Given the description of an element on the screen output the (x, y) to click on. 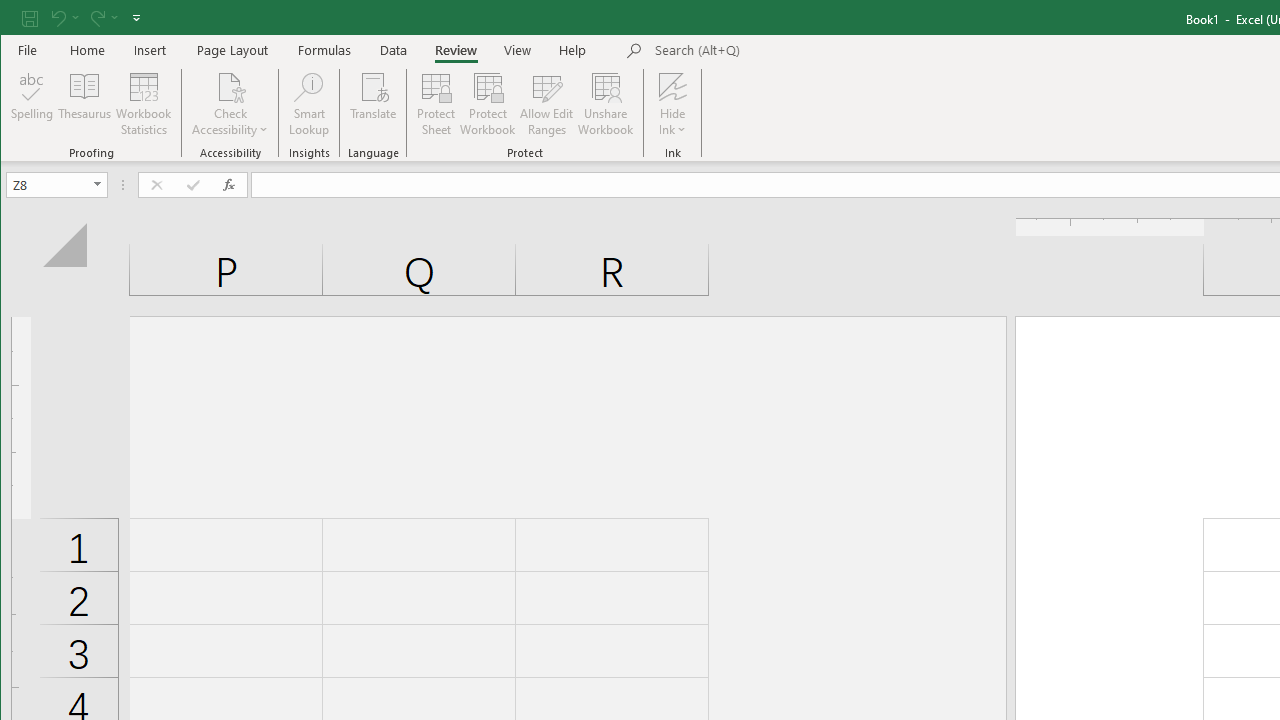
Check Accessibility (230, 104)
Allow Edit Ranges (547, 104)
Unshare Workbook (606, 104)
Spelling... (32, 104)
Smart Lookup (308, 104)
Protect Workbook... (488, 104)
Hide Ink (672, 104)
Thesaurus... (84, 104)
